Given the description of an element on the screen output the (x, y) to click on. 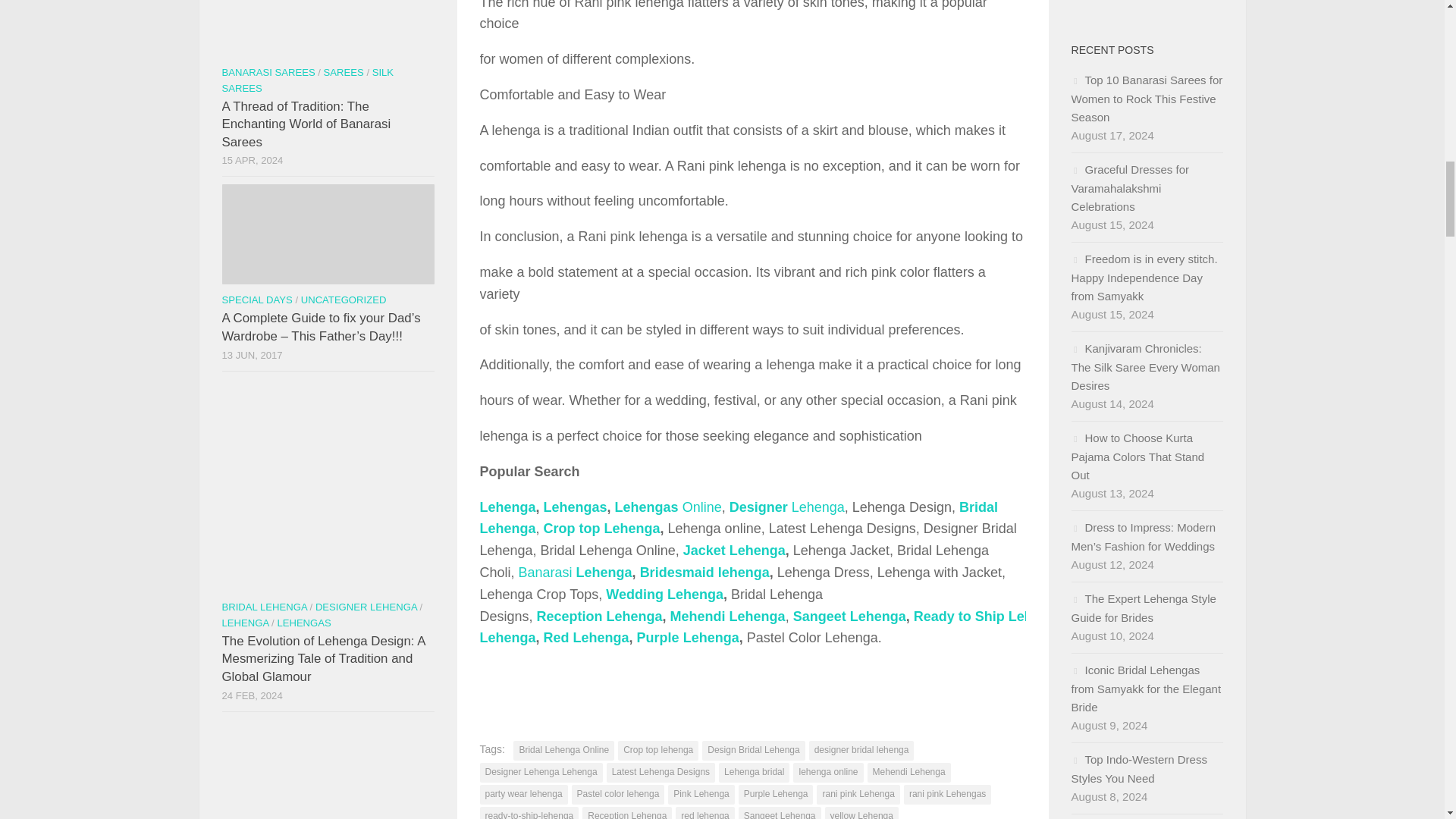
Crop top Lehenga (602, 528)
Designer Lehenga (786, 507)
Lehenga (507, 507)
Jacket Lehenga (734, 549)
Bridal Lehenga (738, 518)
Banarasi Lehenga (574, 572)
Bridesmaid lehenga (705, 572)
Lehengas Online (668, 507)
Lehengas (575, 507)
